Given the description of an element on the screen output the (x, y) to click on. 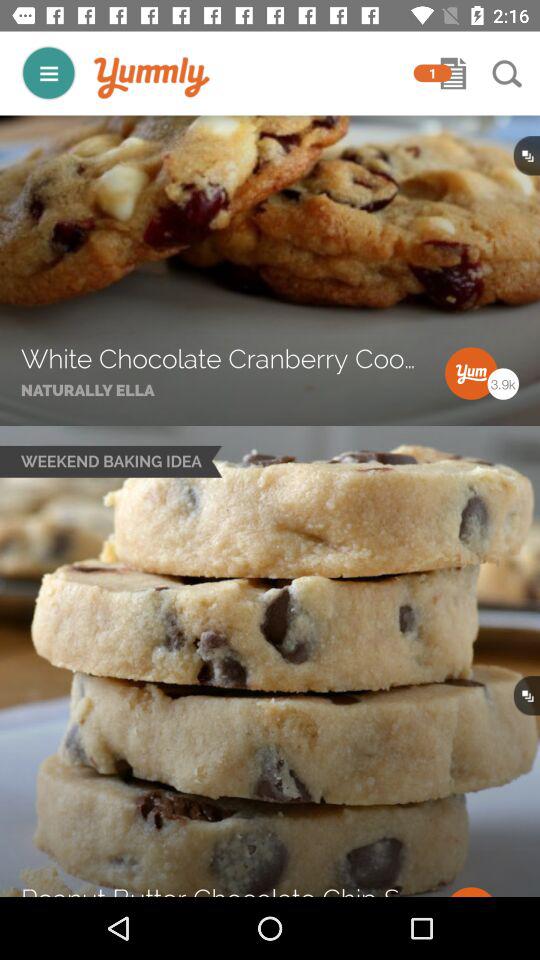
tap the item next to the  1 (152, 77)
